Given the description of an element on the screen output the (x, y) to click on. 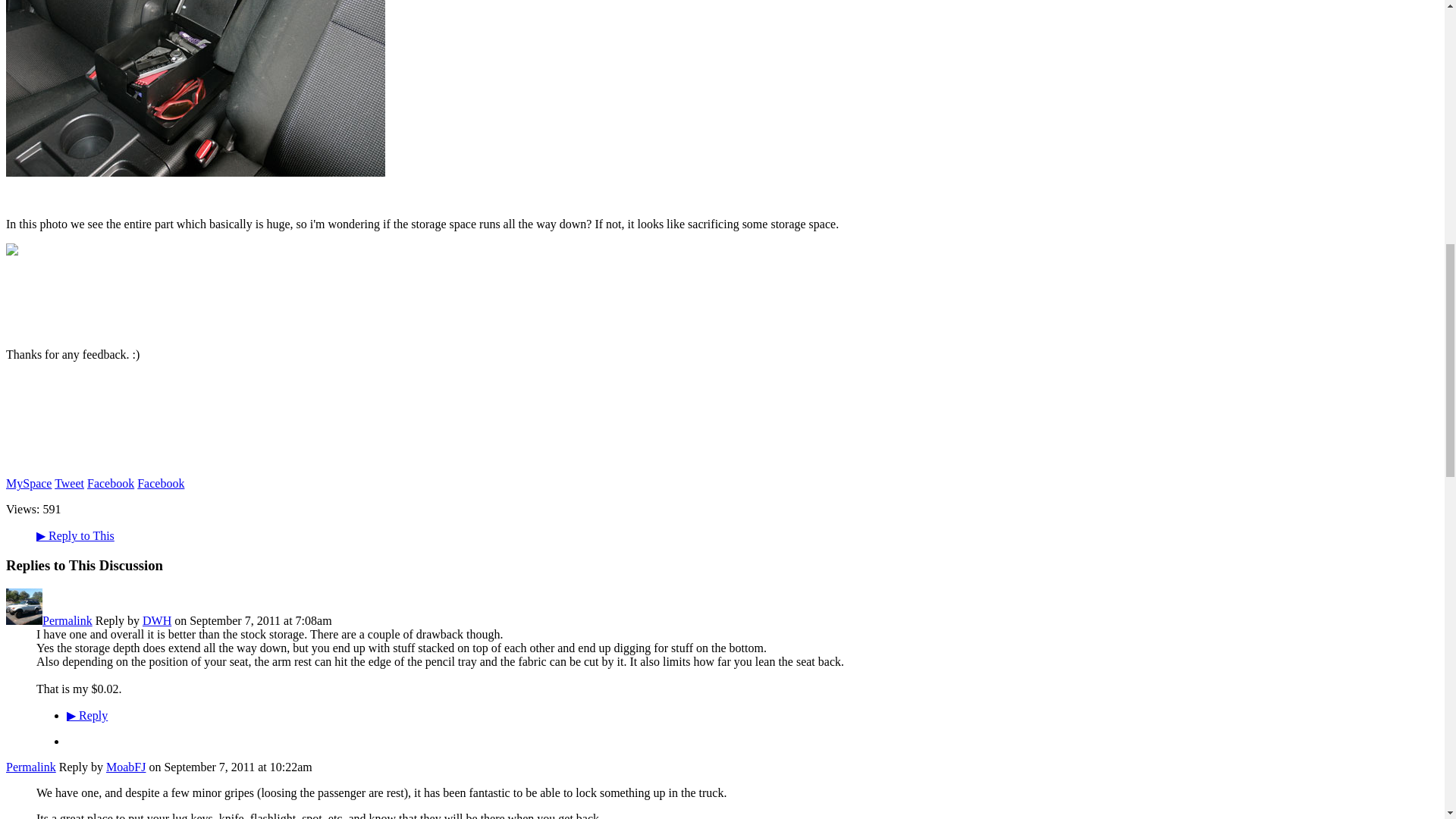
Facebook (110, 482)
Tweet (69, 482)
DWH (23, 620)
MySpace (27, 482)
Permalink to this Reply (67, 620)
Permalink to this Reply (30, 766)
